Given the description of an element on the screen output the (x, y) to click on. 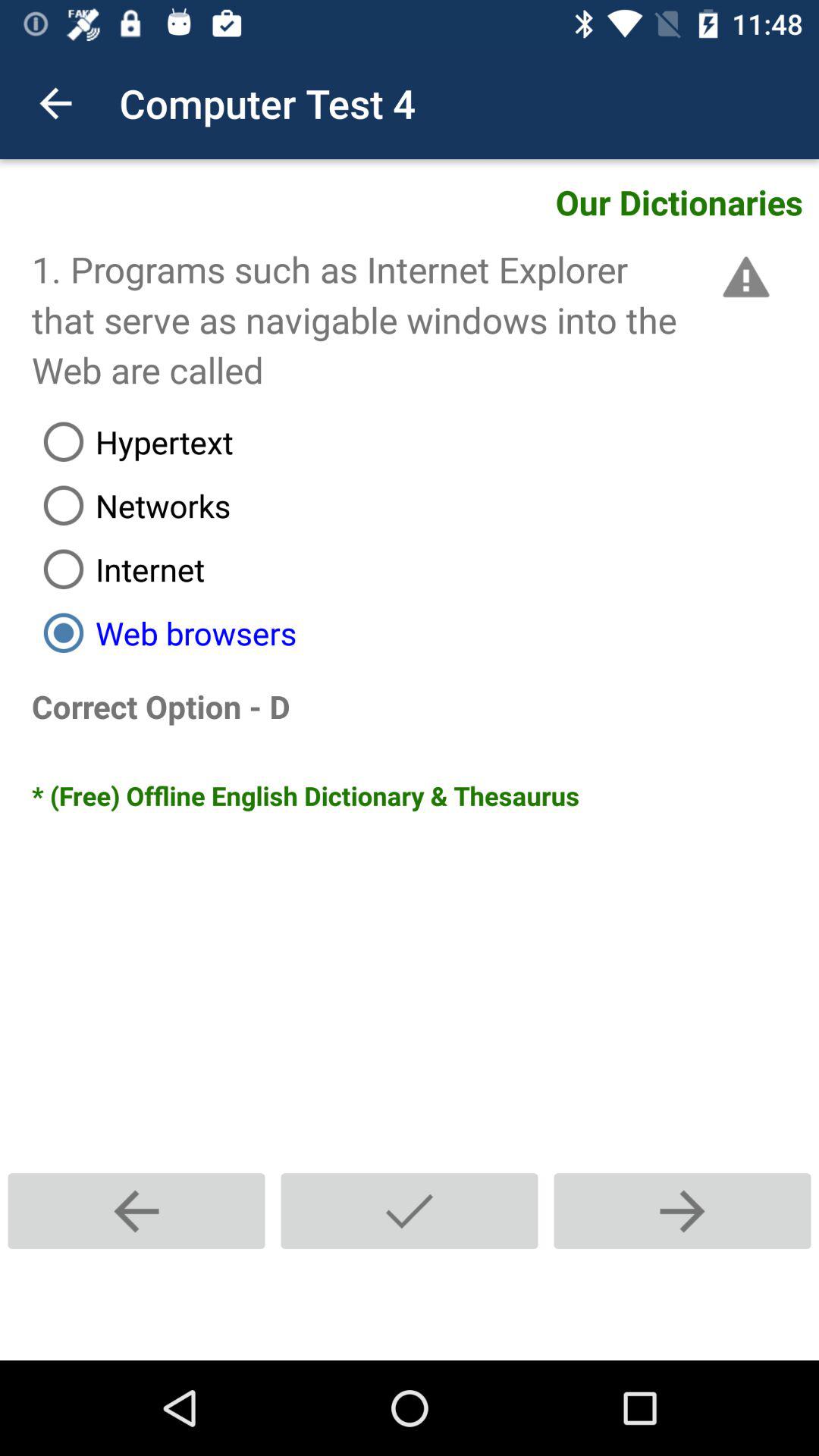
click item at the bottom left corner (136, 1210)
